Given the description of an element on the screen output the (x, y) to click on. 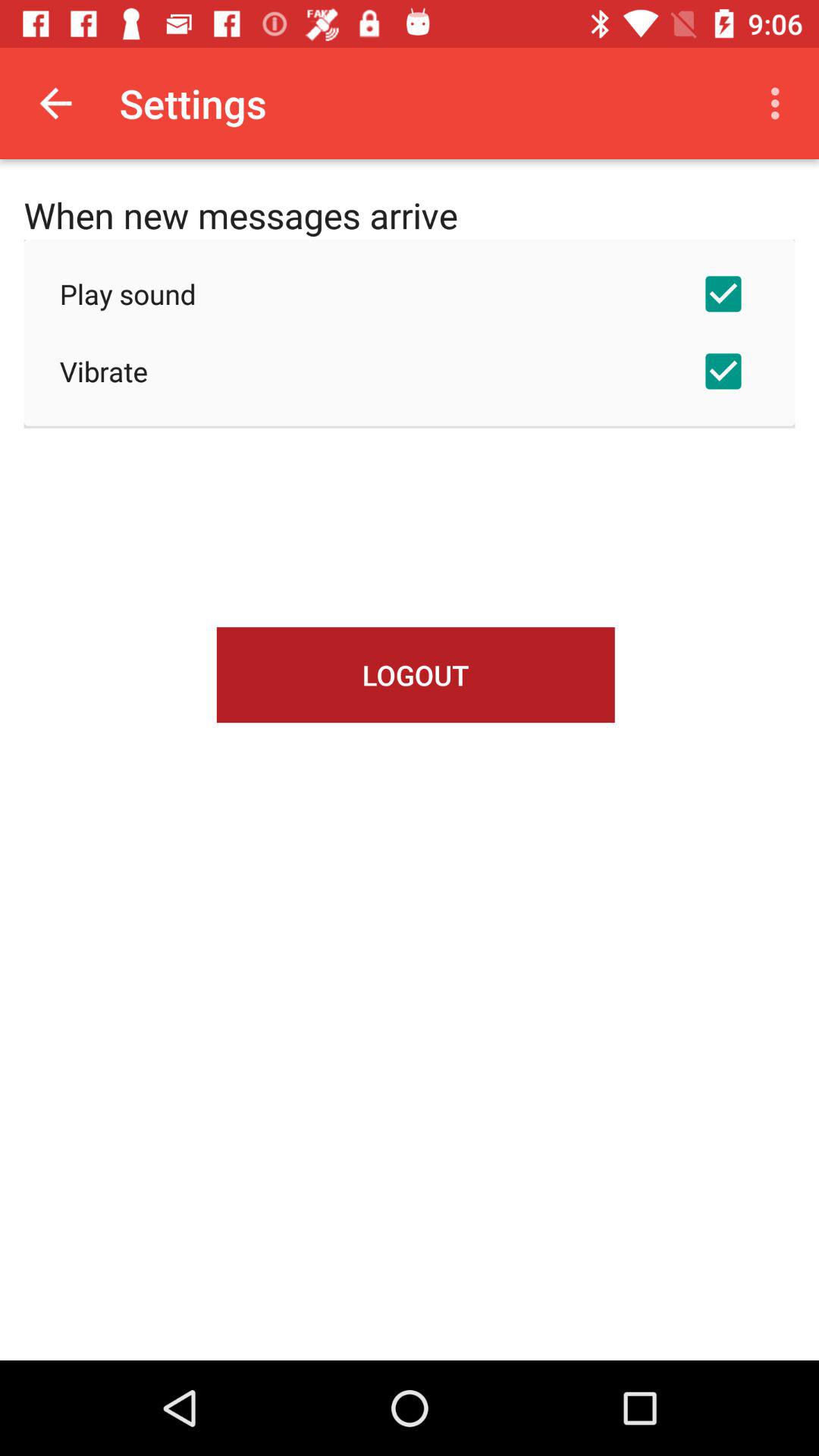
choose the logout item (415, 674)
